Given the description of an element on the screen output the (x, y) to click on. 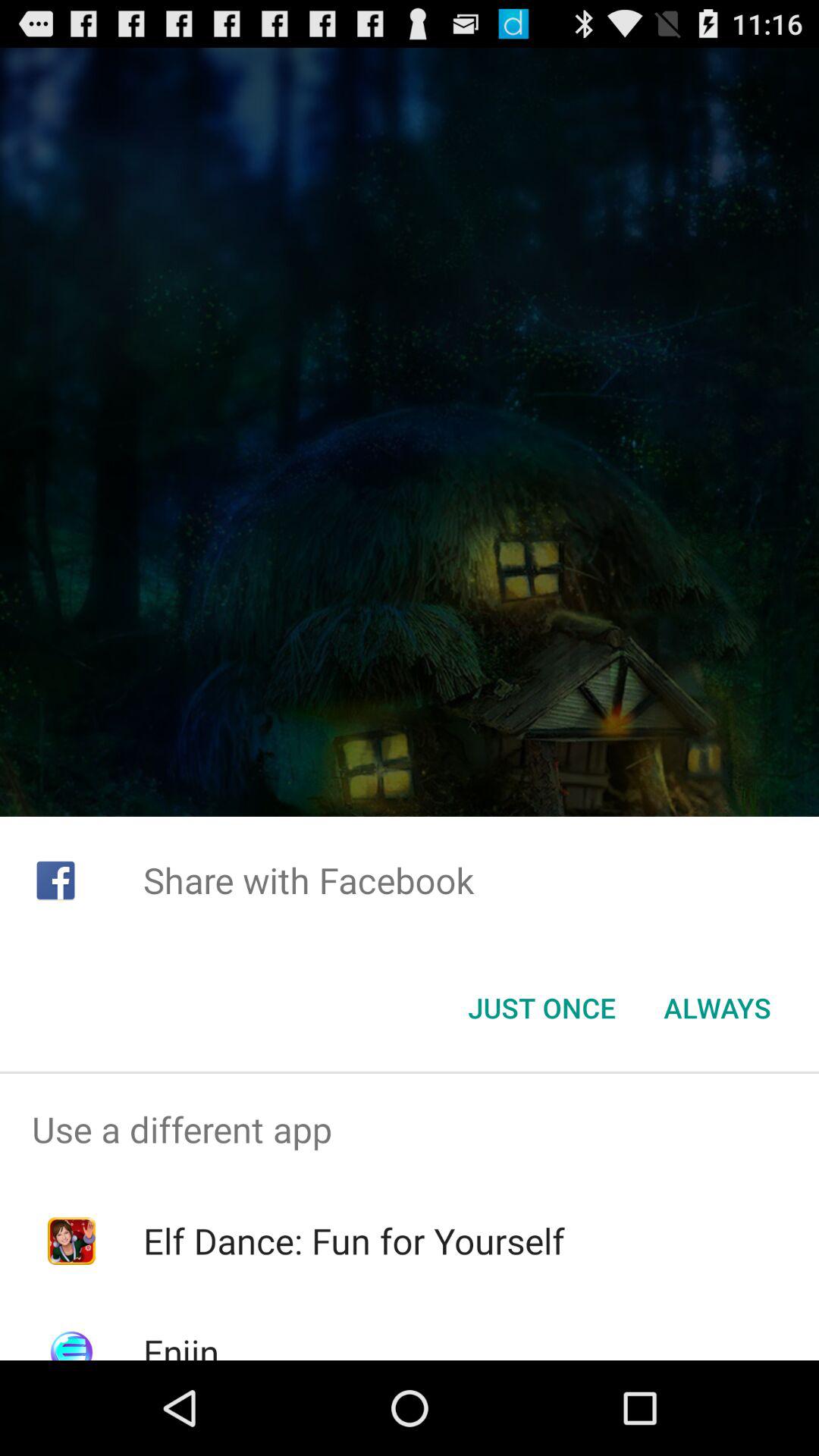
tap the just once item (541, 1007)
